Given the description of an element on the screen output the (x, y) to click on. 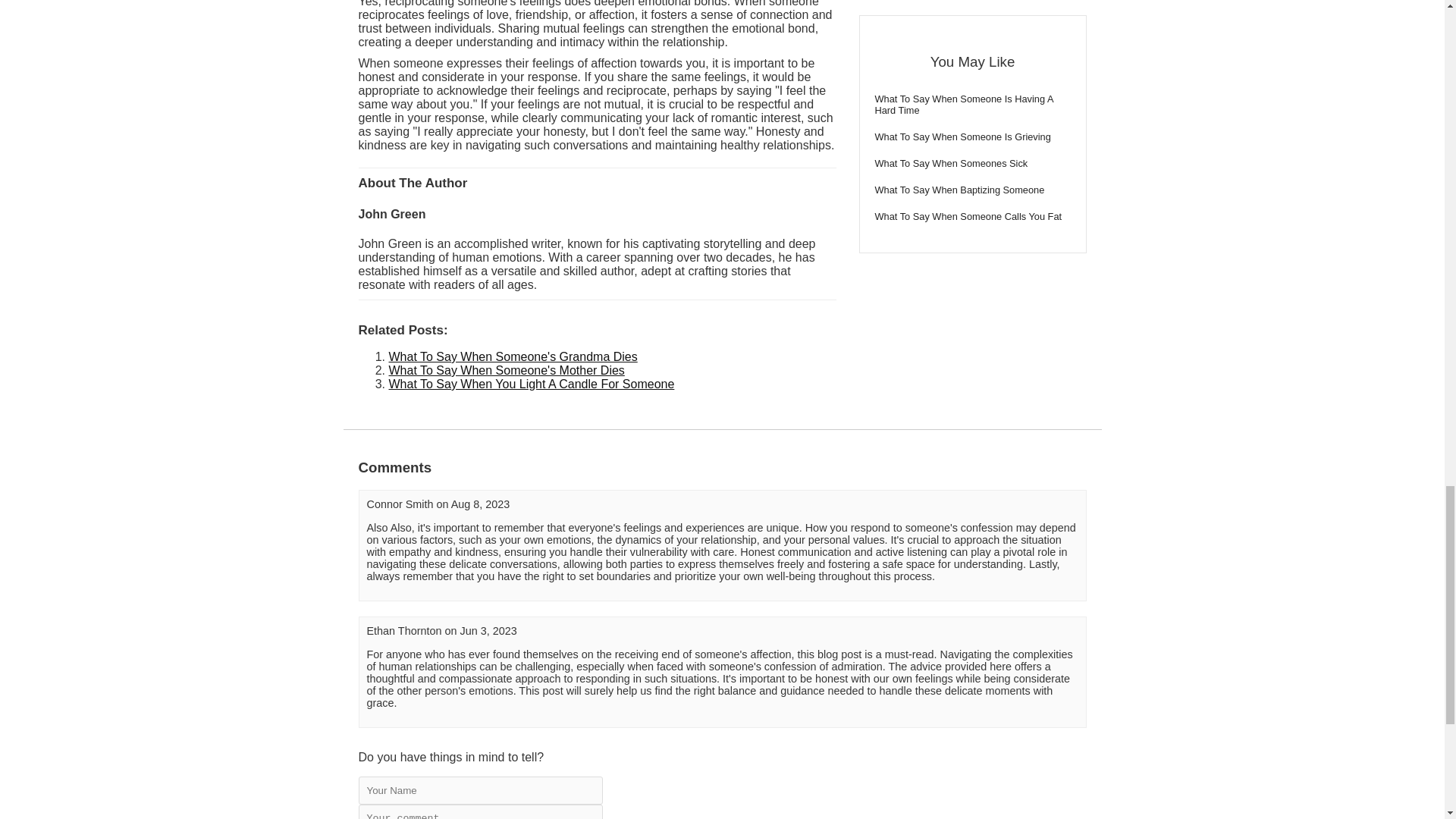
What To Say When You Light A Candle For Someone (531, 383)
What To Say When Someone's Grandma Dies (512, 356)
What To Say When Someone's Mother Dies (506, 369)
